Given the description of an element on the screen output the (x, y) to click on. 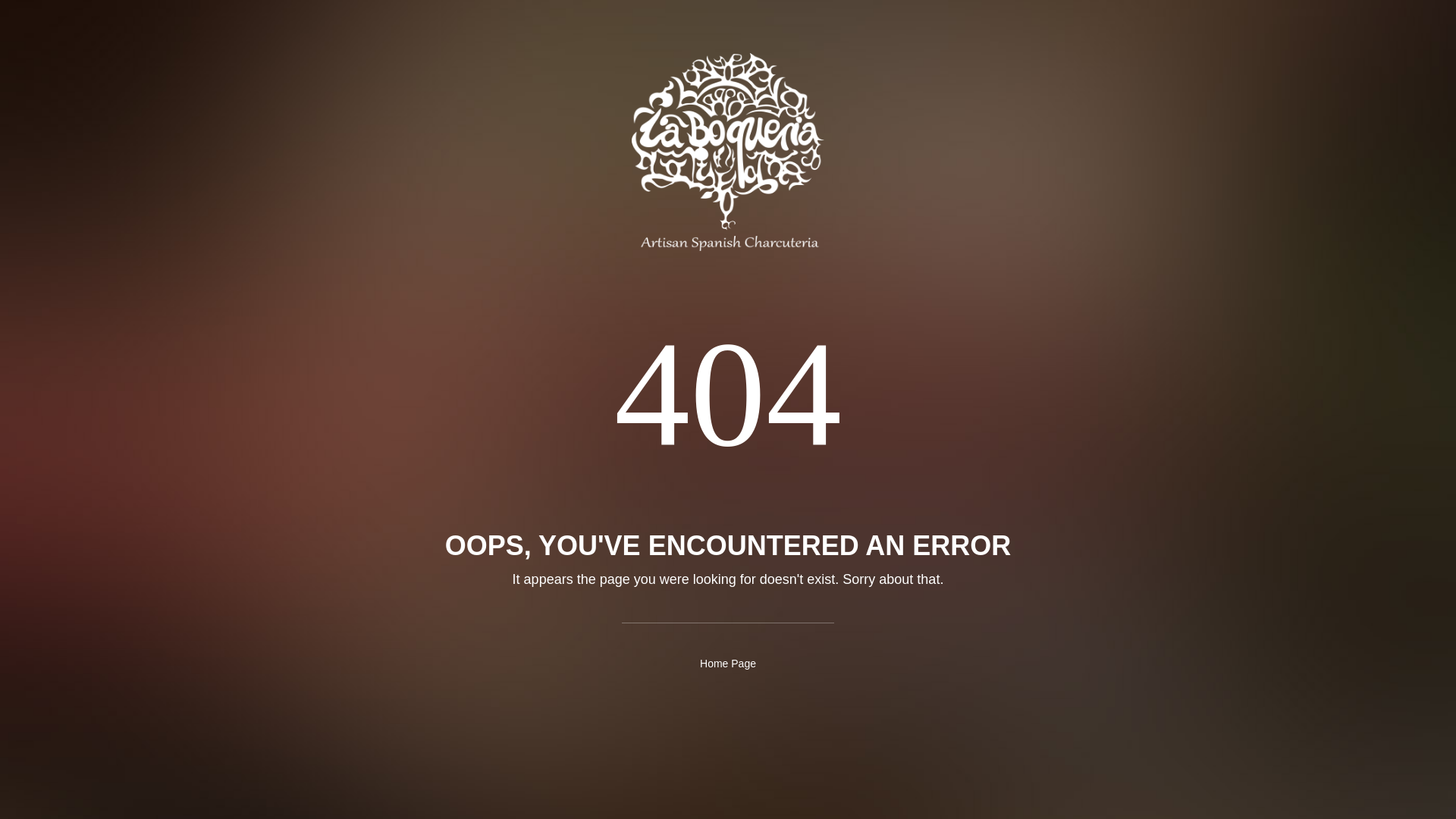
Home Page Element type: text (727, 663)
